Given the description of an element on the screen output the (x, y) to click on. 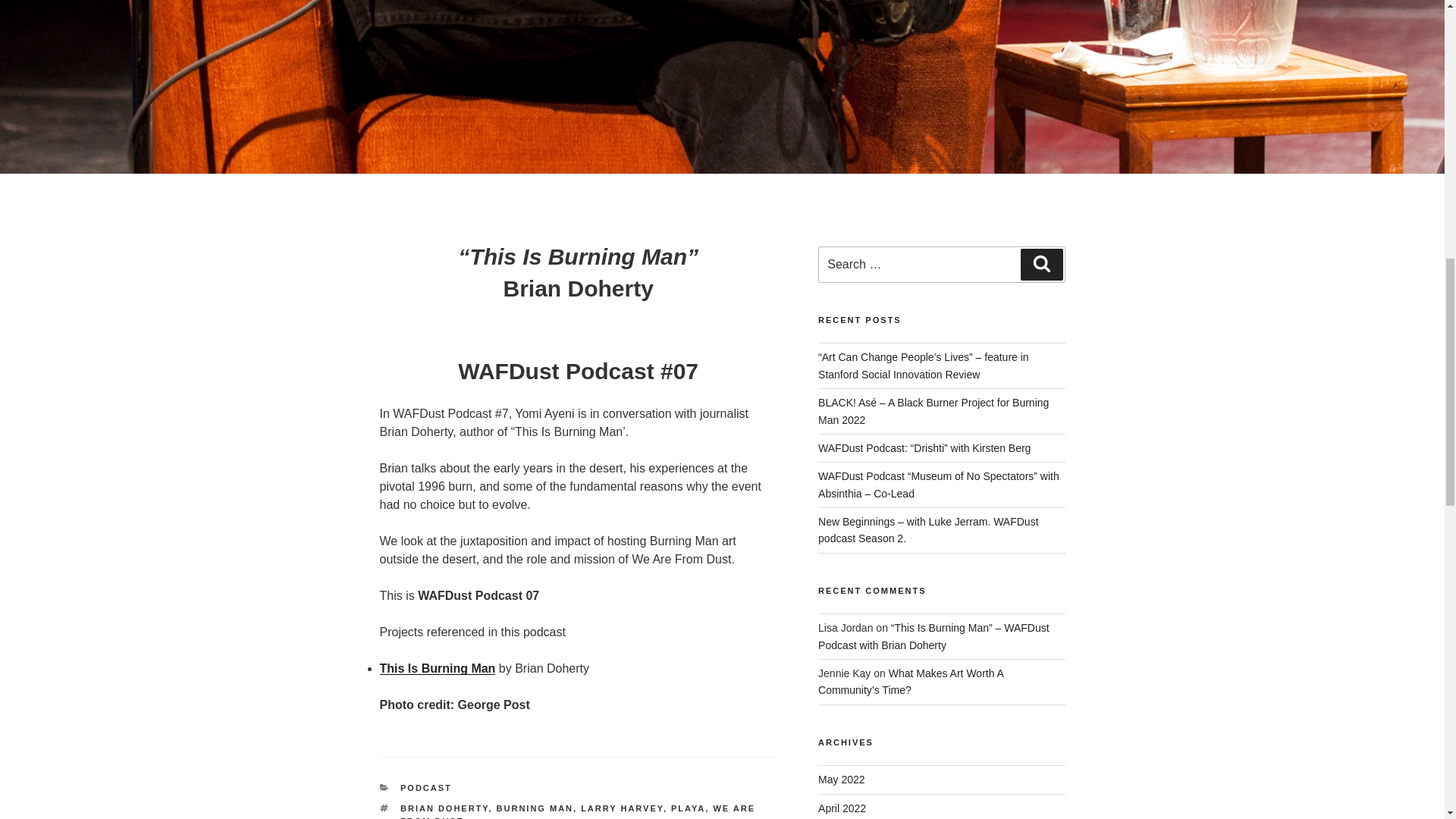
PLAYA (687, 808)
WE ARE FROM DUST (577, 811)
This Is Burning Man (436, 667)
May 2022 (841, 779)
Search (1041, 264)
BURNING MAN (534, 808)
LARRY HARVEY (621, 808)
PODCAST (425, 787)
April 2022 (842, 808)
BRIAN DOHERTY (443, 808)
